Given the description of an element on the screen output the (x, y) to click on. 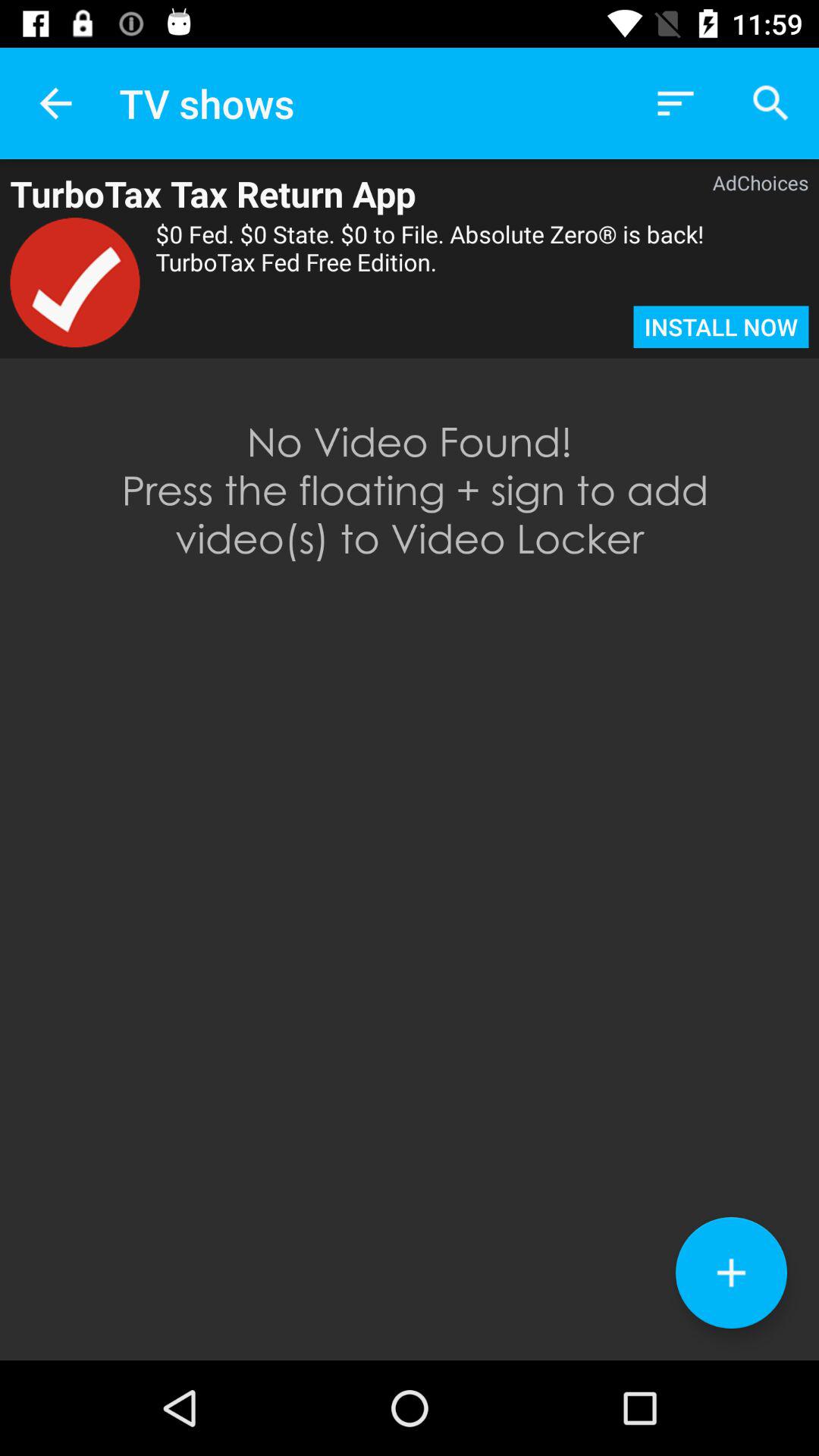
press item next to tv shows app (55, 103)
